Given the description of an element on the screen output the (x, y) to click on. 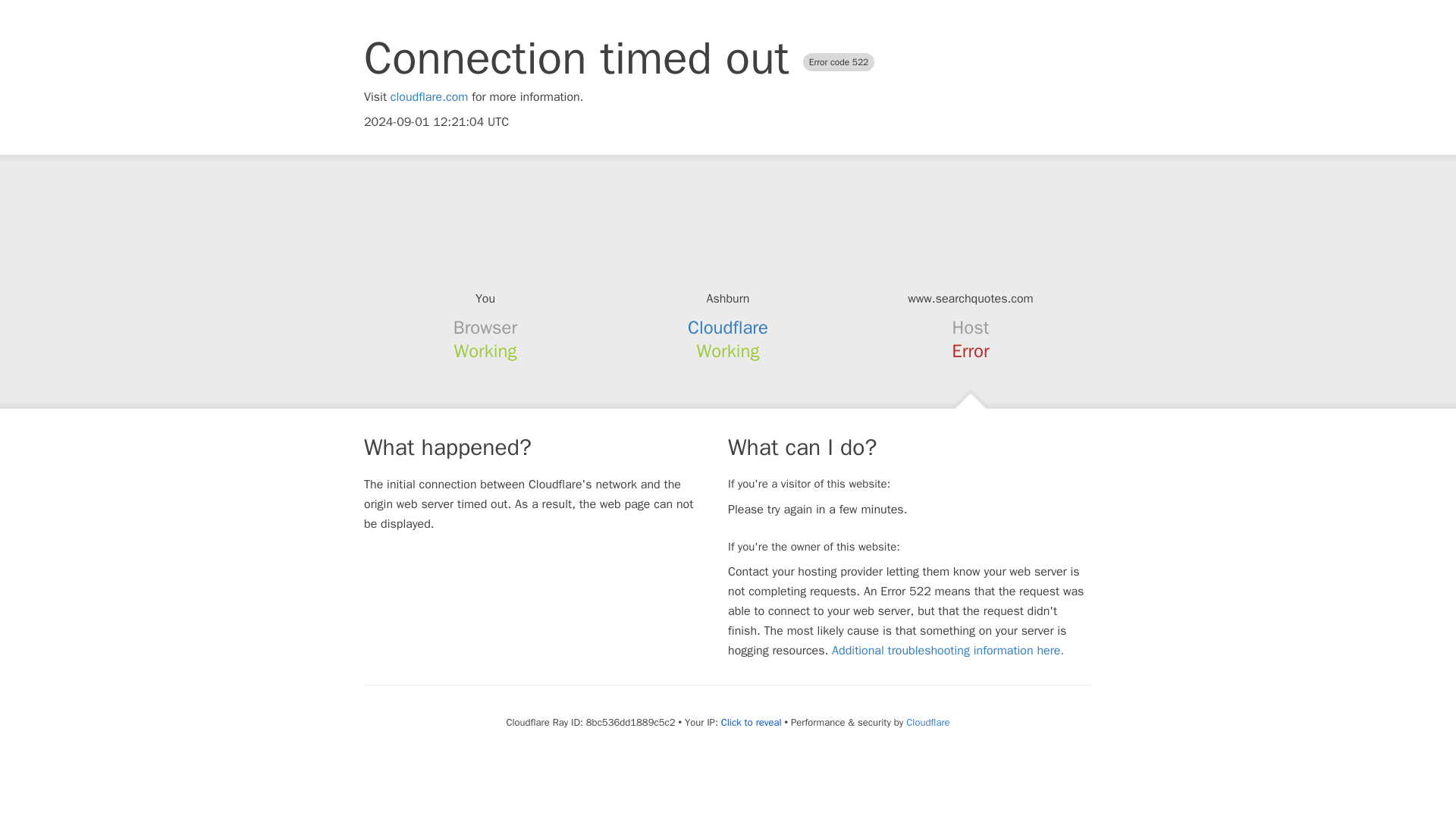
Click to reveal (750, 722)
Additional troubleshooting information here. (947, 650)
Cloudflare (927, 721)
Cloudflare (727, 327)
cloudflare.com (429, 96)
